Given the description of an element on the screen output the (x, y) to click on. 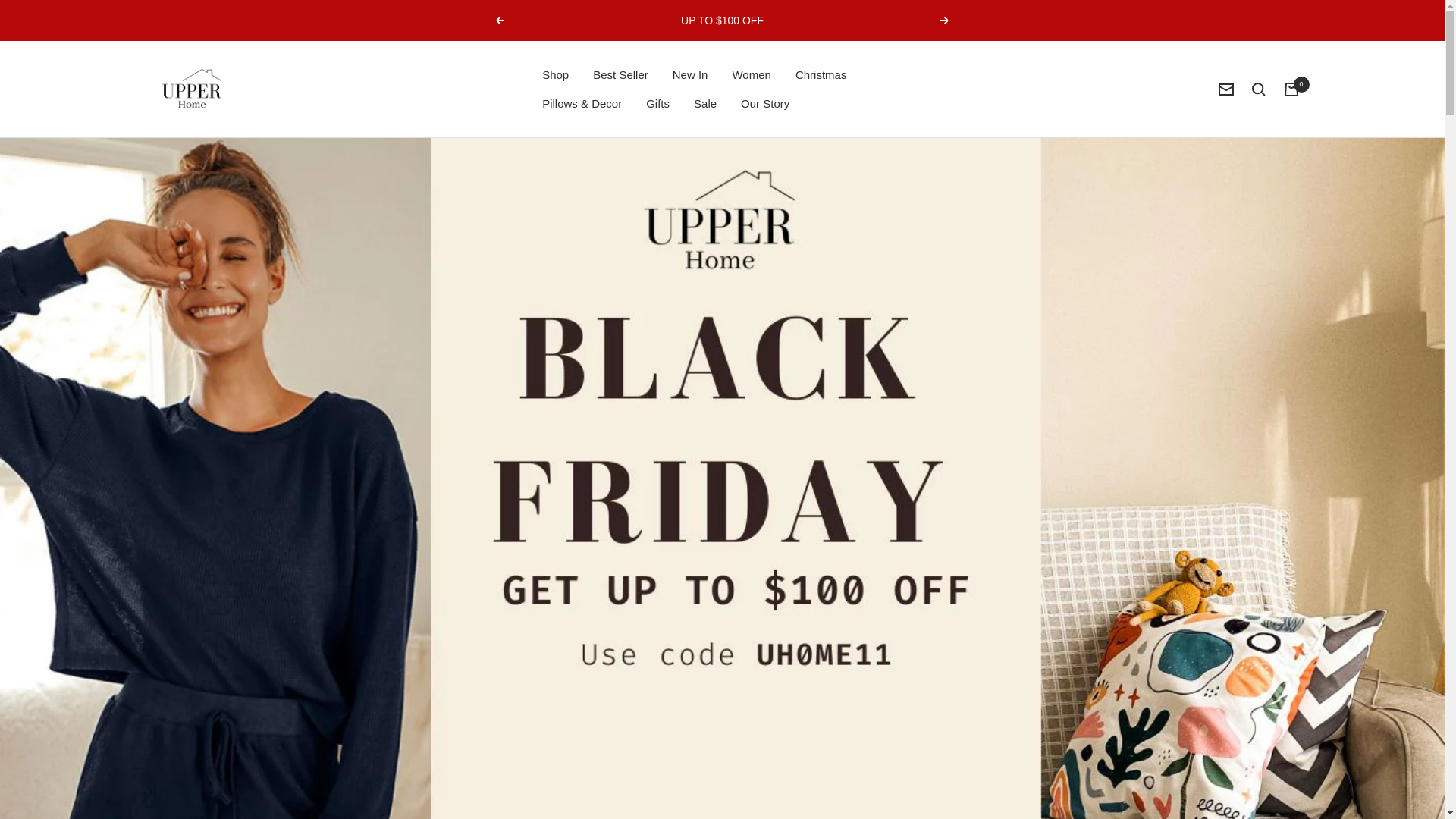
Sale (705, 103)
Women (751, 75)
Our Story (765, 103)
0 (1291, 89)
Best Seller (619, 75)
UPPER Home (190, 88)
Next (944, 20)
Gifts (657, 103)
Newsletter (1225, 89)
New In (689, 75)
